Given the description of an element on the screen output the (x, y) to click on. 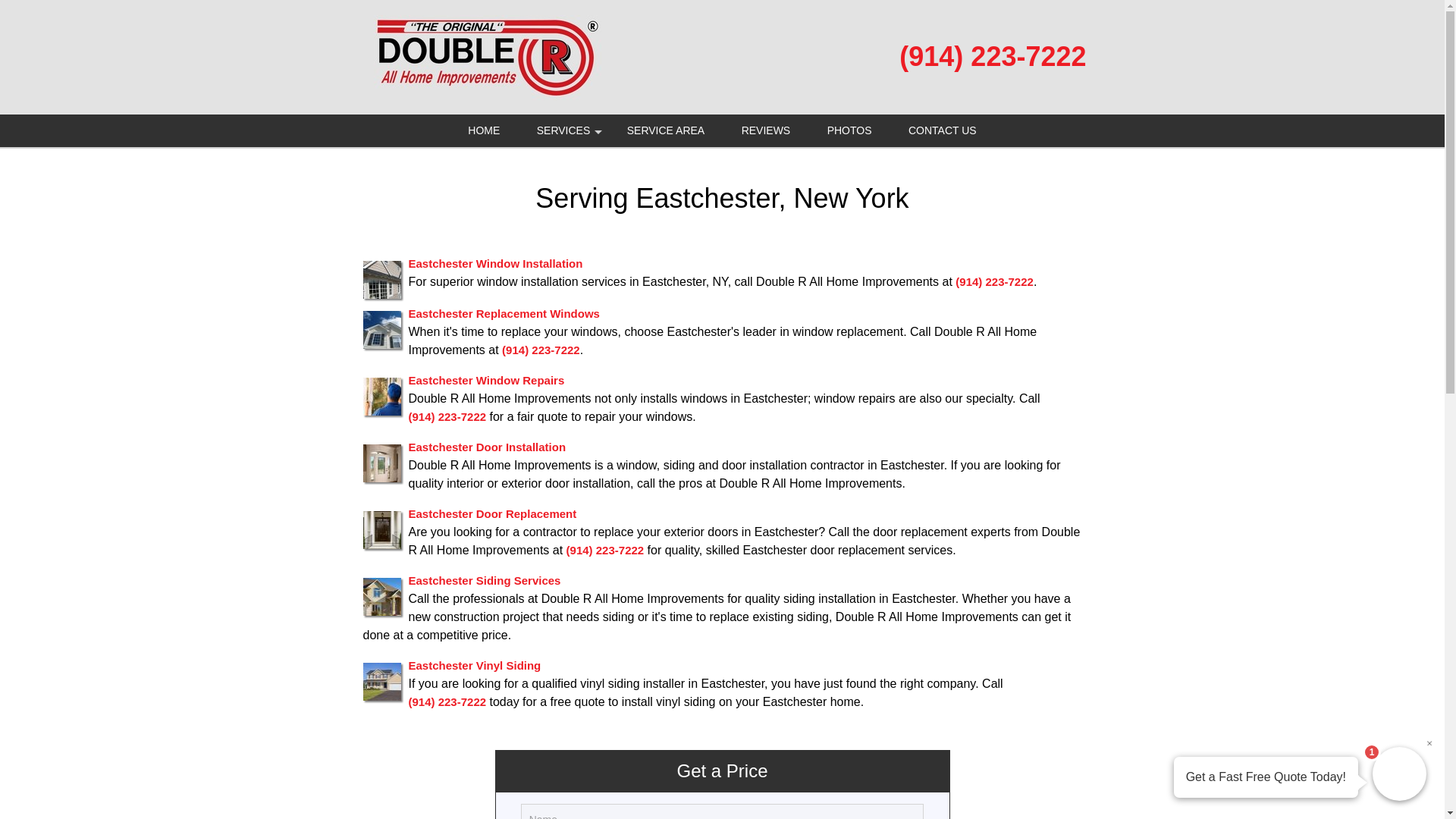
Eastchester Door Replacement (491, 512)
REVIEWS (766, 130)
Eastchester Vinyl Siding (473, 664)
Eastchester Window Repairs (485, 379)
SERVICE AREA (665, 130)
Eastchester Replacement Windows (502, 312)
CONTACT US (941, 130)
Eastchester Window Installation (494, 262)
Eastchester Door Installation (486, 445)
Eastchester Siding Services (483, 579)
PHOTOS (849, 130)
HOME (483, 130)
